Given the description of an element on the screen output the (x, y) to click on. 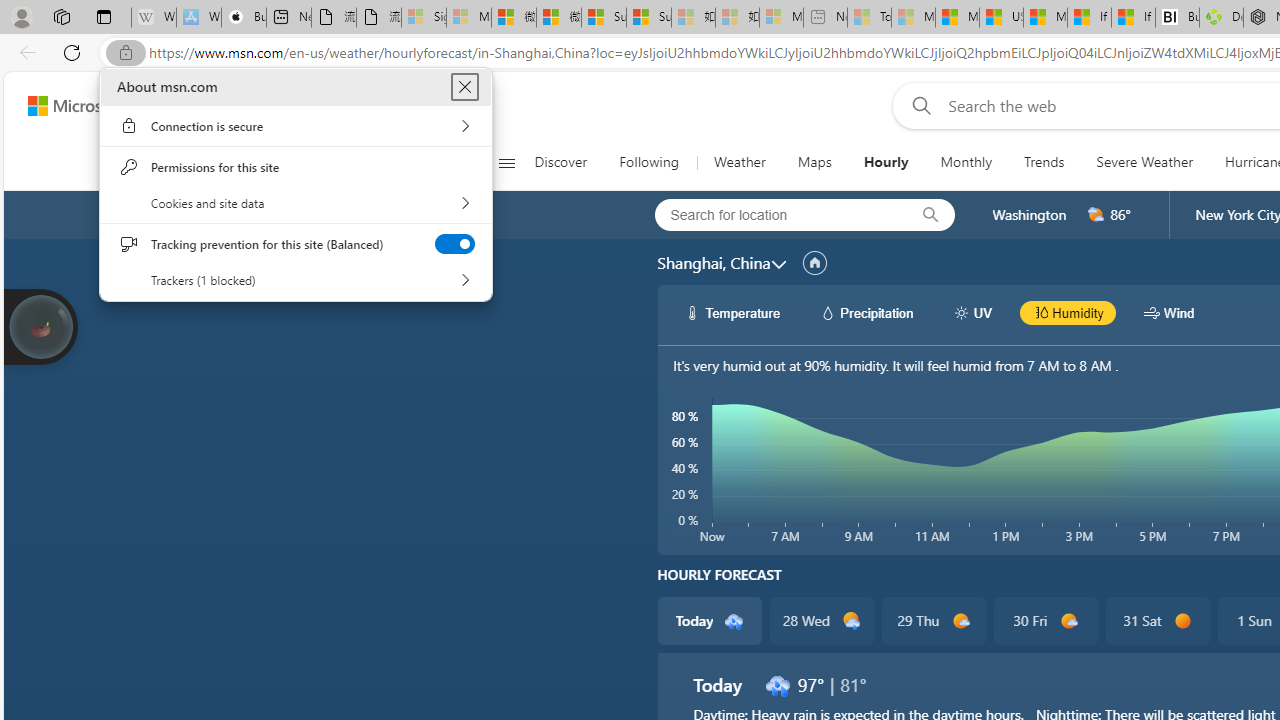
Today d4300 (708, 620)
d0000 (1181, 621)
common/carouselChevron (778, 264)
hourlyChart/uvWhite UV (972, 312)
hourlyChart/humidityBlack Humidity (1068, 312)
US Heat Deaths Soared To Record High Last Year (1001, 17)
common/carouselChevron (778, 264)
Buy iPad - Apple (243, 17)
Shanghai, China (713, 263)
29 Thu d1000 (932, 620)
Trends (1044, 162)
